Given the description of an element on the screen output the (x, y) to click on. 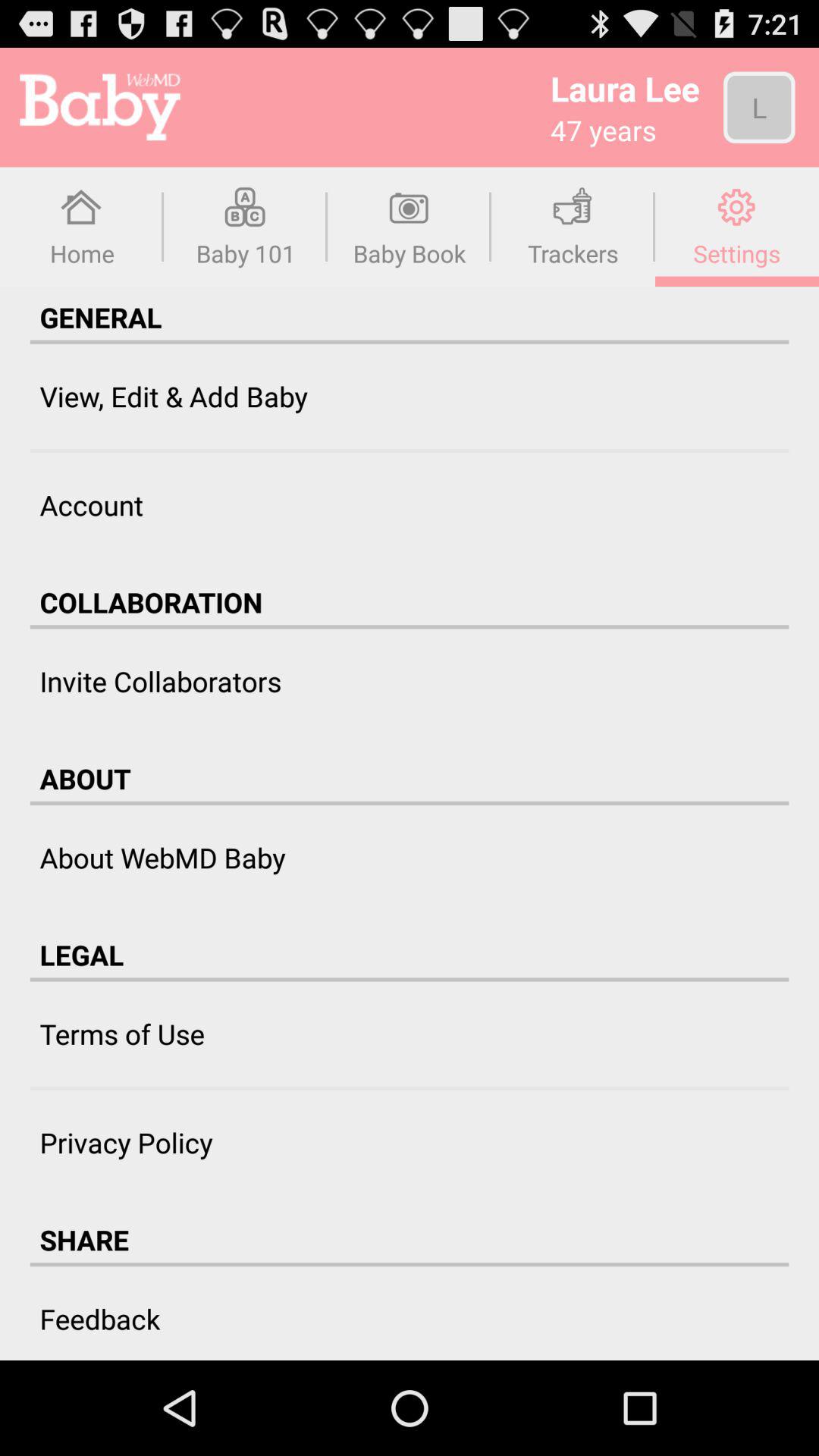
turn on item above invite collaborators (409, 627)
